Given the description of an element on the screen output the (x, y) to click on. 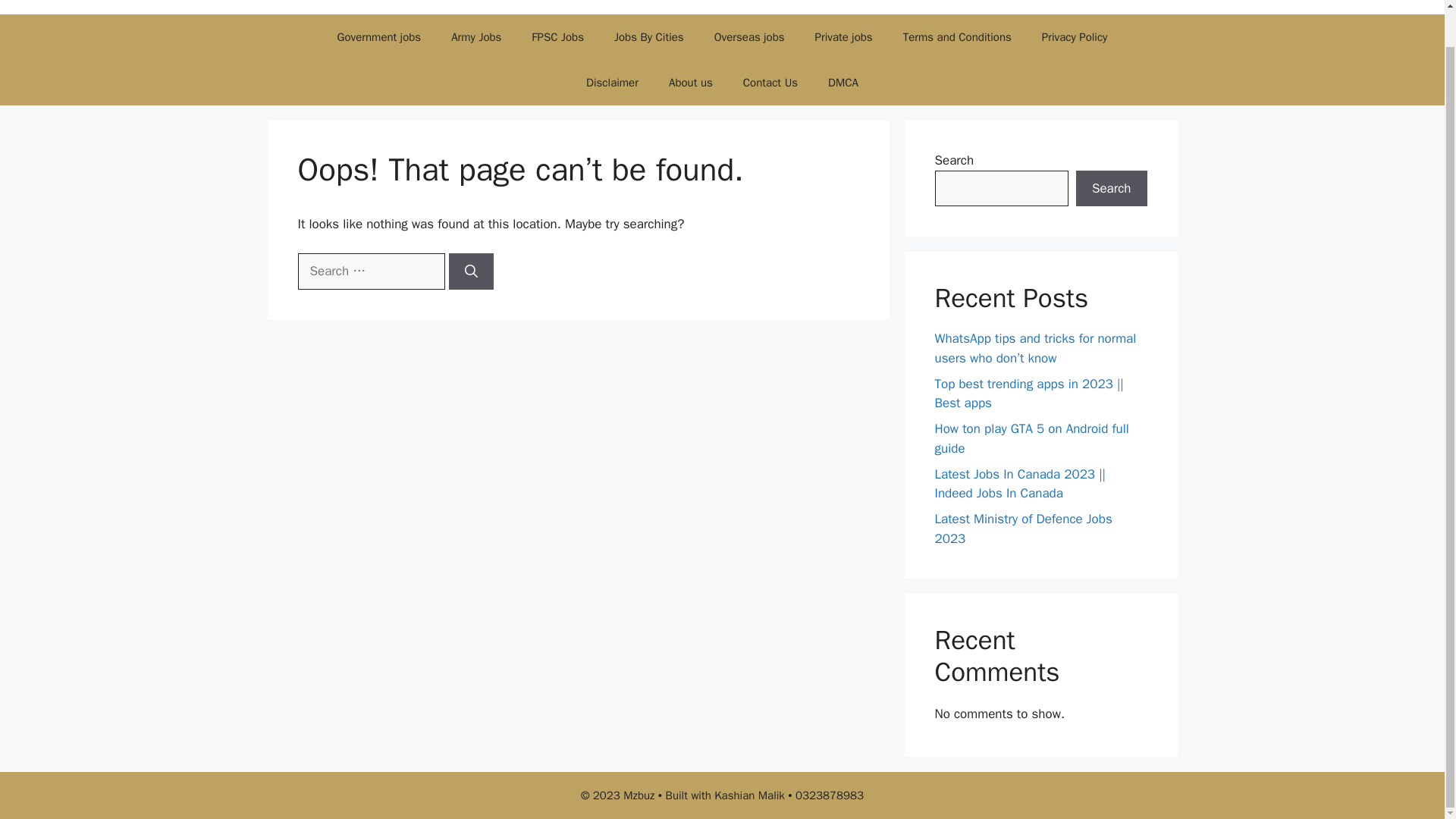
FPSC Jobs (557, 36)
Terms and Conditions (957, 36)
Government jobs (378, 36)
DMCA (842, 82)
About us (690, 82)
Latest Ministry of Defence Jobs 2023 (1023, 529)
Disclaimer (611, 82)
Private jobs (843, 36)
How ton play GTA 5 on Android full guide (1031, 438)
Privacy Policy (1074, 36)
